Given the description of an element on the screen output the (x, y) to click on. 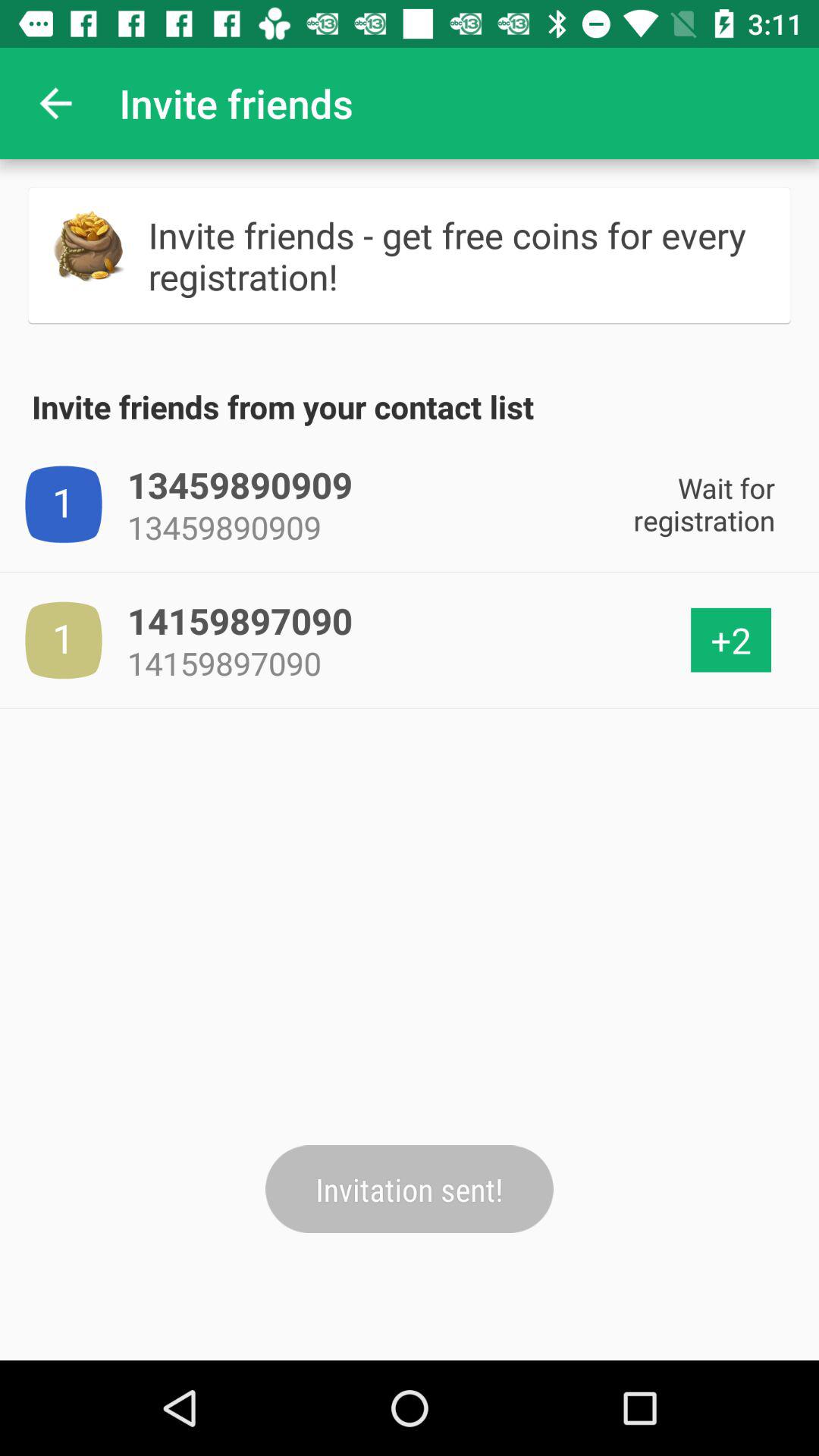
select +2 (731, 639)
